Given the description of an element on the screen output the (x, y) to click on. 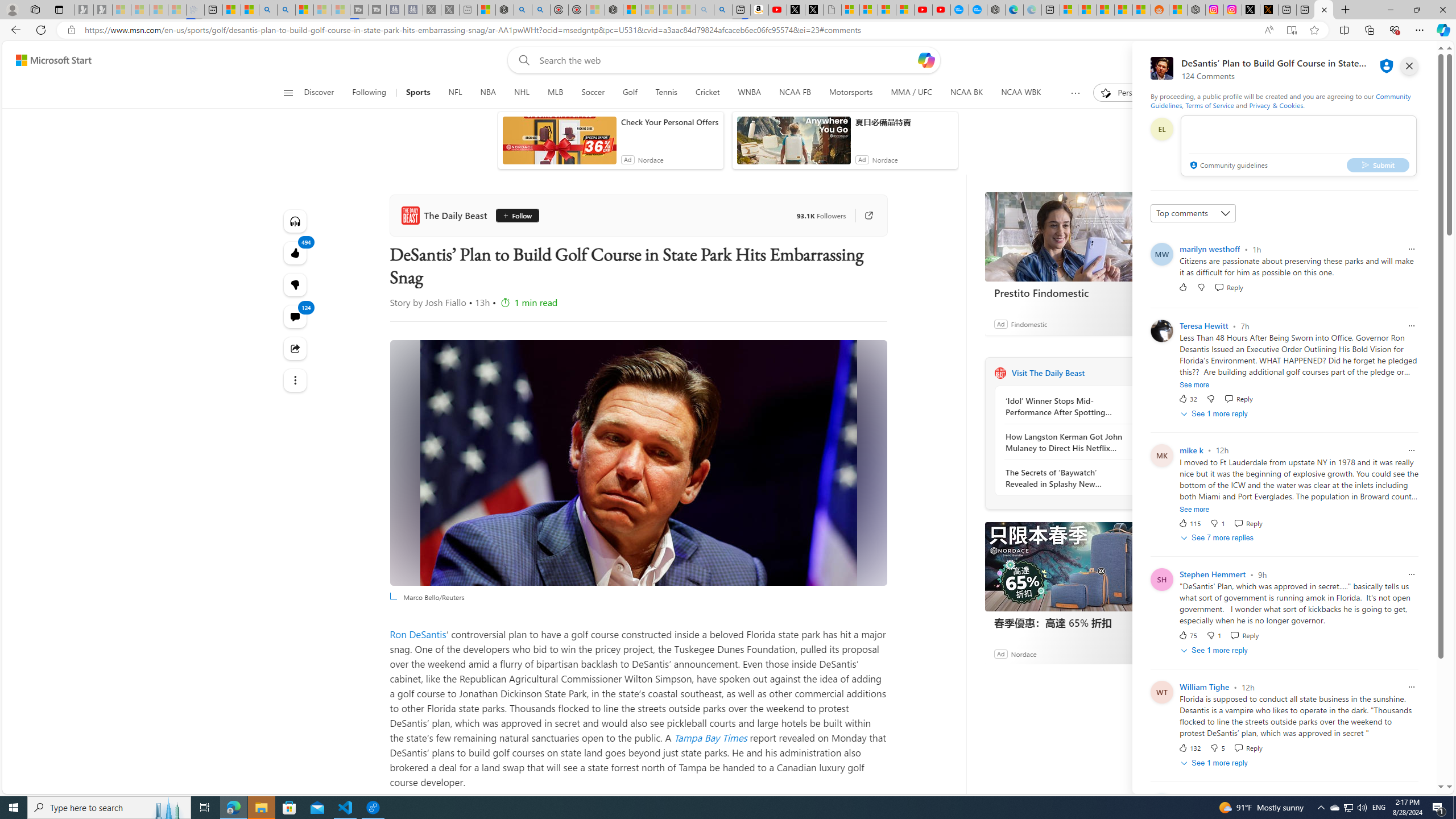
NHL (521, 92)
mike k (1191, 449)
Share this story (295, 348)
Log in to X / X (1251, 9)
Untitled (831, 9)
Stephen Hemmert (1212, 574)
NBA (487, 92)
William Tighe (1204, 687)
help.x.com | 524: A timeout occurred (1268, 9)
Sports (417, 92)
anim-content (793, 144)
Visit The Daily Beast website (1140, 372)
NCAA WBK (1021, 92)
